Given the description of an element on the screen output the (x, y) to click on. 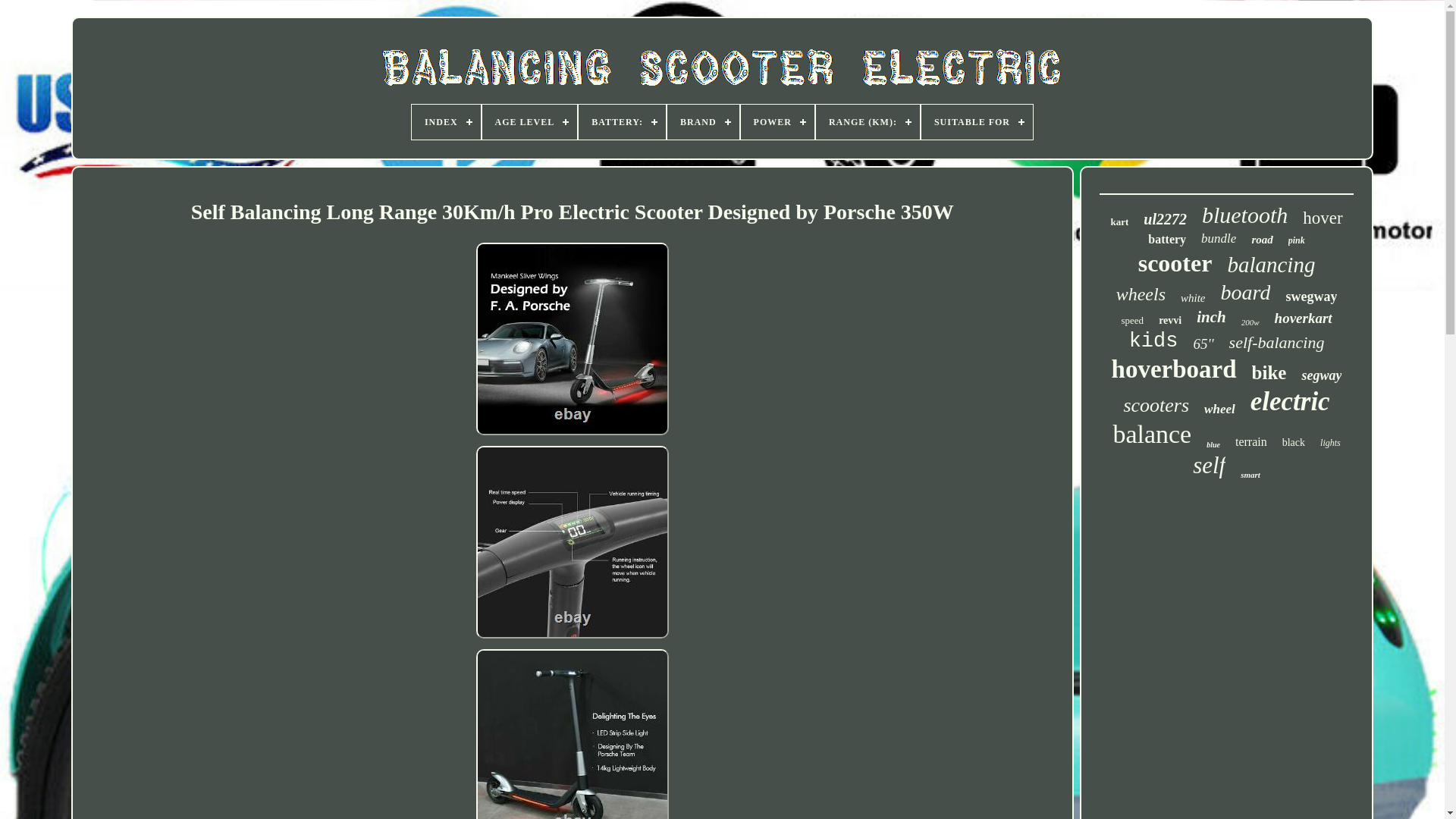
BRAND (702, 121)
INDEX (446, 121)
AGE LEVEL (529, 121)
BATTERY: (621, 121)
